Given the description of an element on the screen output the (x, y) to click on. 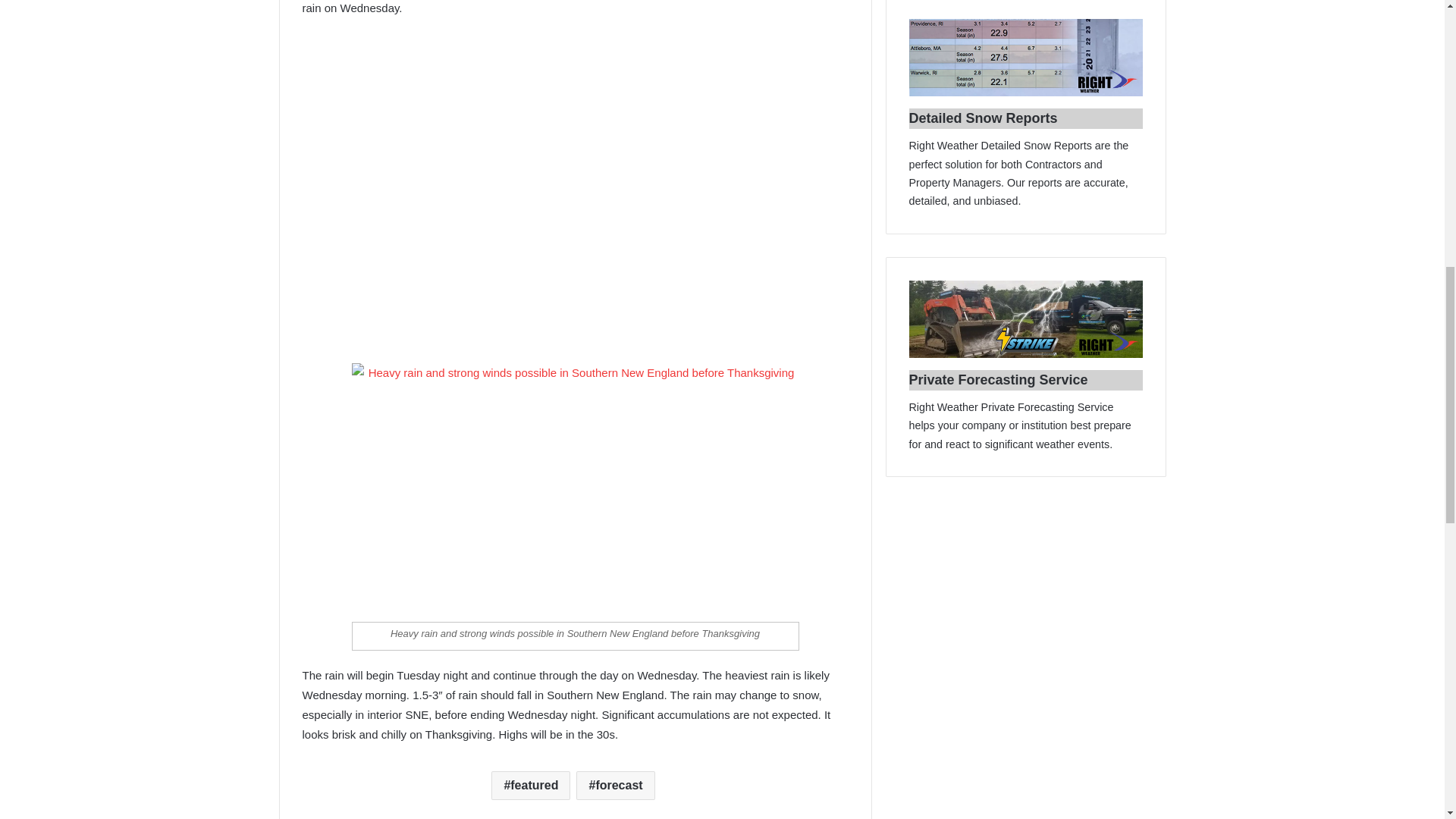
forecast (614, 785)
featured (531, 785)
